Given the description of an element on the screen output the (x, y) to click on. 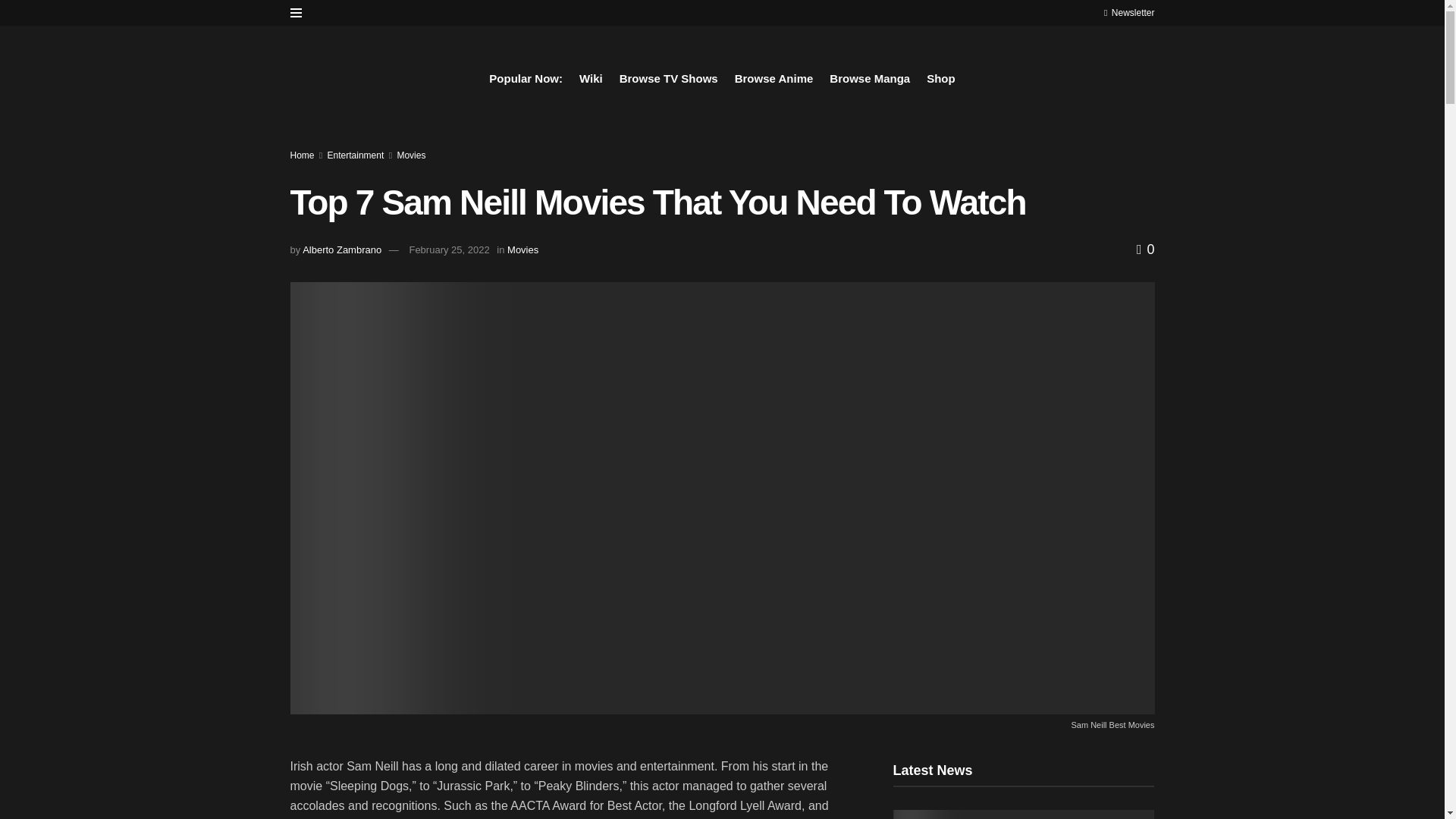
Alberto Zambrano (341, 249)
Newsletter (1128, 12)
Browse Manga (869, 78)
Browse Anime (774, 78)
Movies (410, 154)
Movies (522, 249)
Browse TV Shows (668, 78)
Entertainment (355, 154)
Home (301, 154)
0 (1145, 249)
February 25, 2022 (449, 249)
Popular Now: (525, 78)
